Given the description of an element on the screen output the (x, y) to click on. 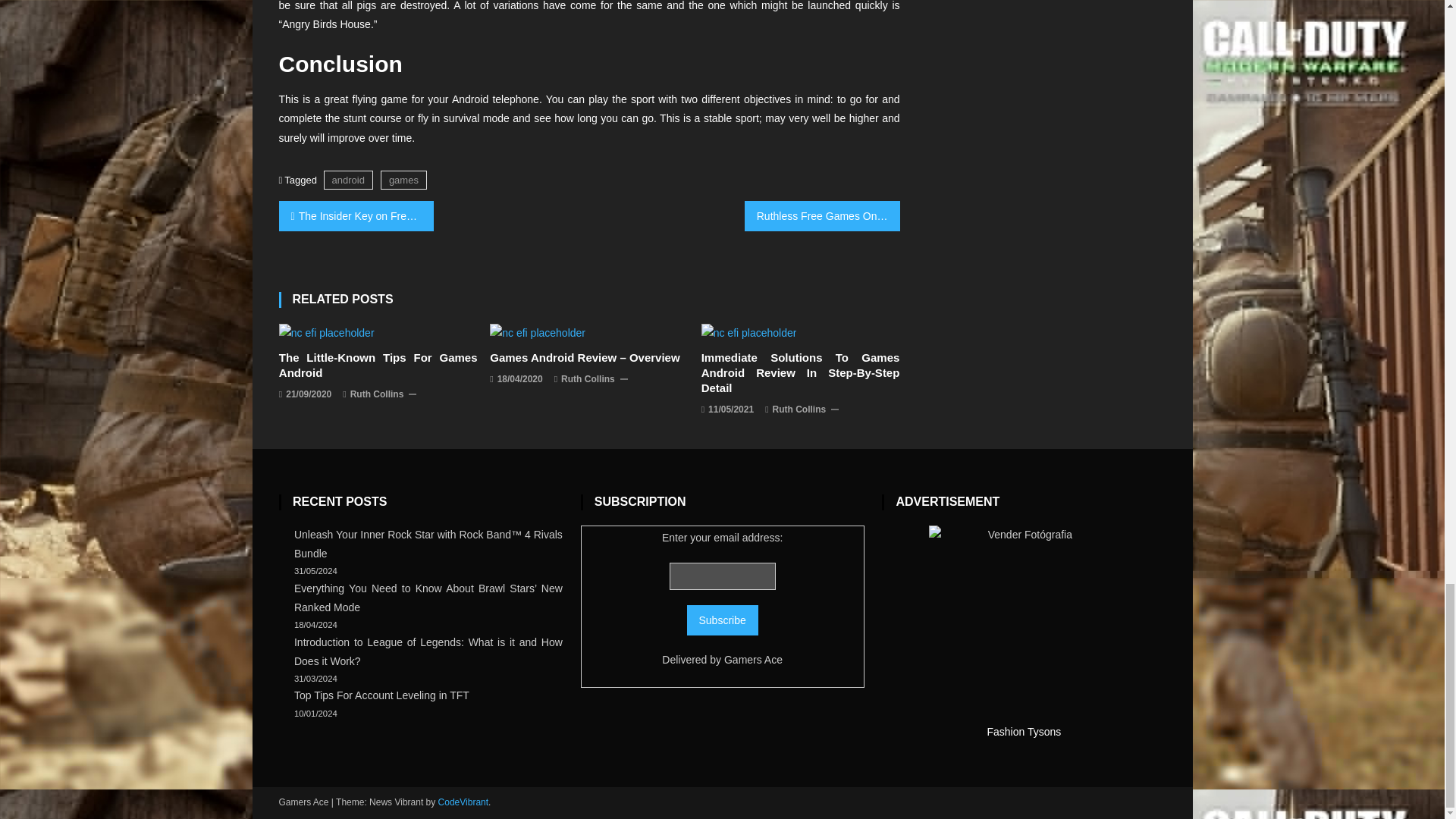
The Insider Key on Free Games Online Discovered (356, 215)
android (347, 179)
Games Android Review - Overview (537, 333)
games (403, 179)
Ruth Collins (377, 394)
Ruth Collins (800, 410)
Subscribe (722, 620)
The Little-Known Tips For Games Android (378, 365)
Ruthless Free Games Online Strategies Exploited (821, 215)
The Little-Known Tips For Games Android (326, 333)
Ruth Collins (587, 379)
